Given the description of an element on the screen output the (x, y) to click on. 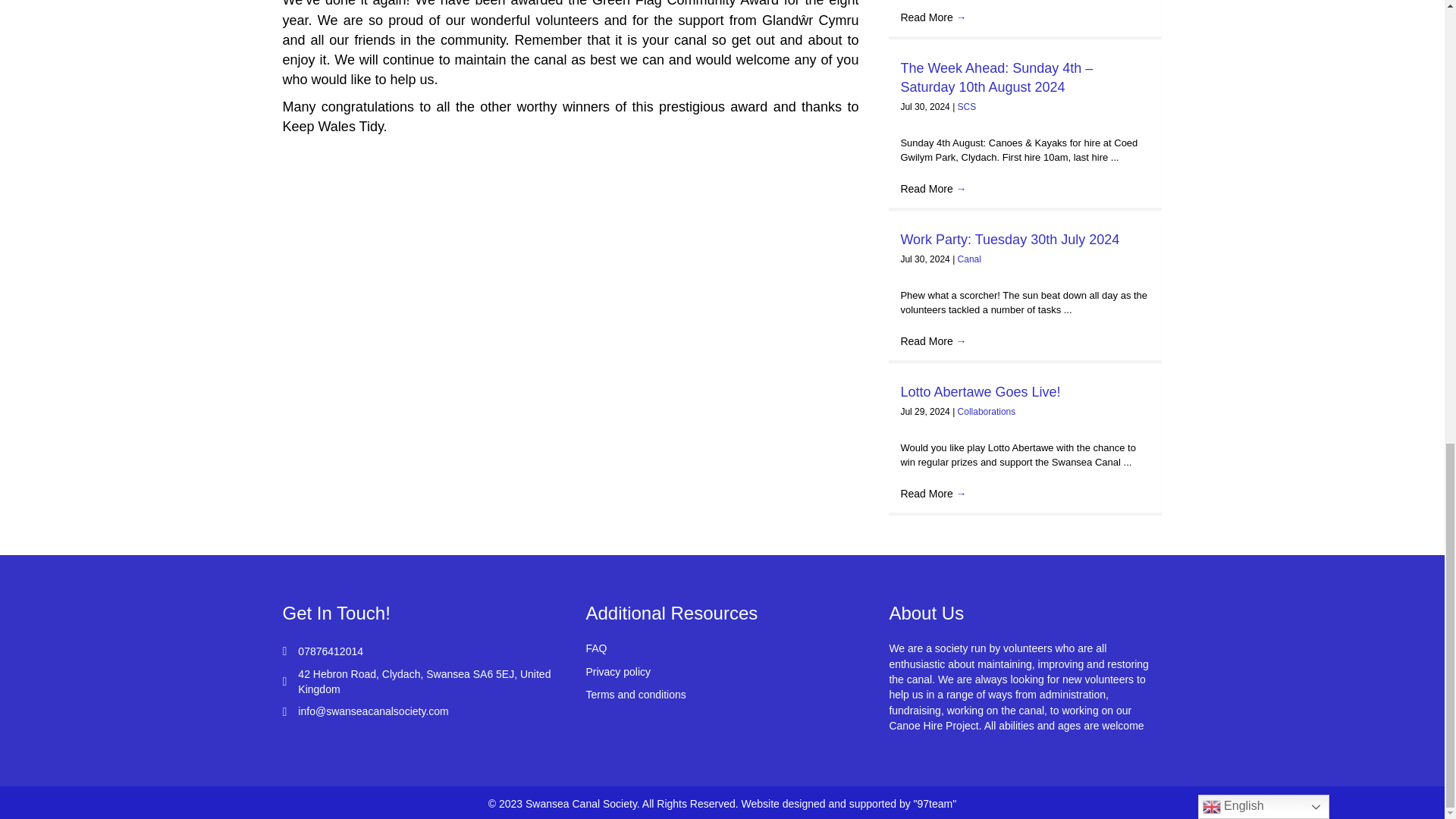
Read More (932, 17)
Work Party: Tuesday 30th July 2024 (1009, 239)
Read More (932, 188)
